Given the description of an element on the screen output the (x, y) to click on. 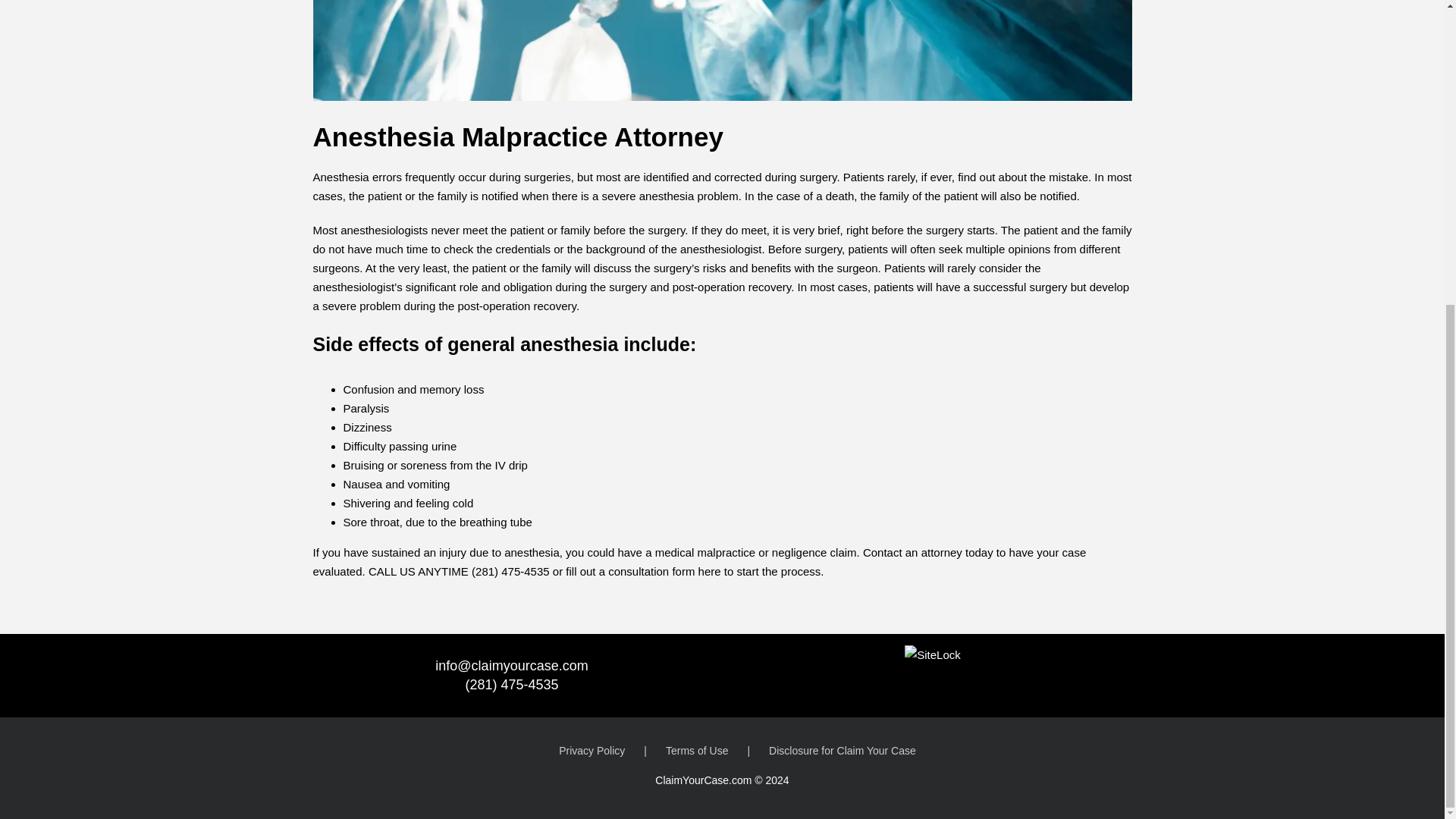
SiteLock (932, 654)
Privacy Policy (612, 751)
Disclosure for Claim Your Case (841, 751)
Terms of Use (716, 751)
here (709, 571)
